Given the description of an element on the screen output the (x, y) to click on. 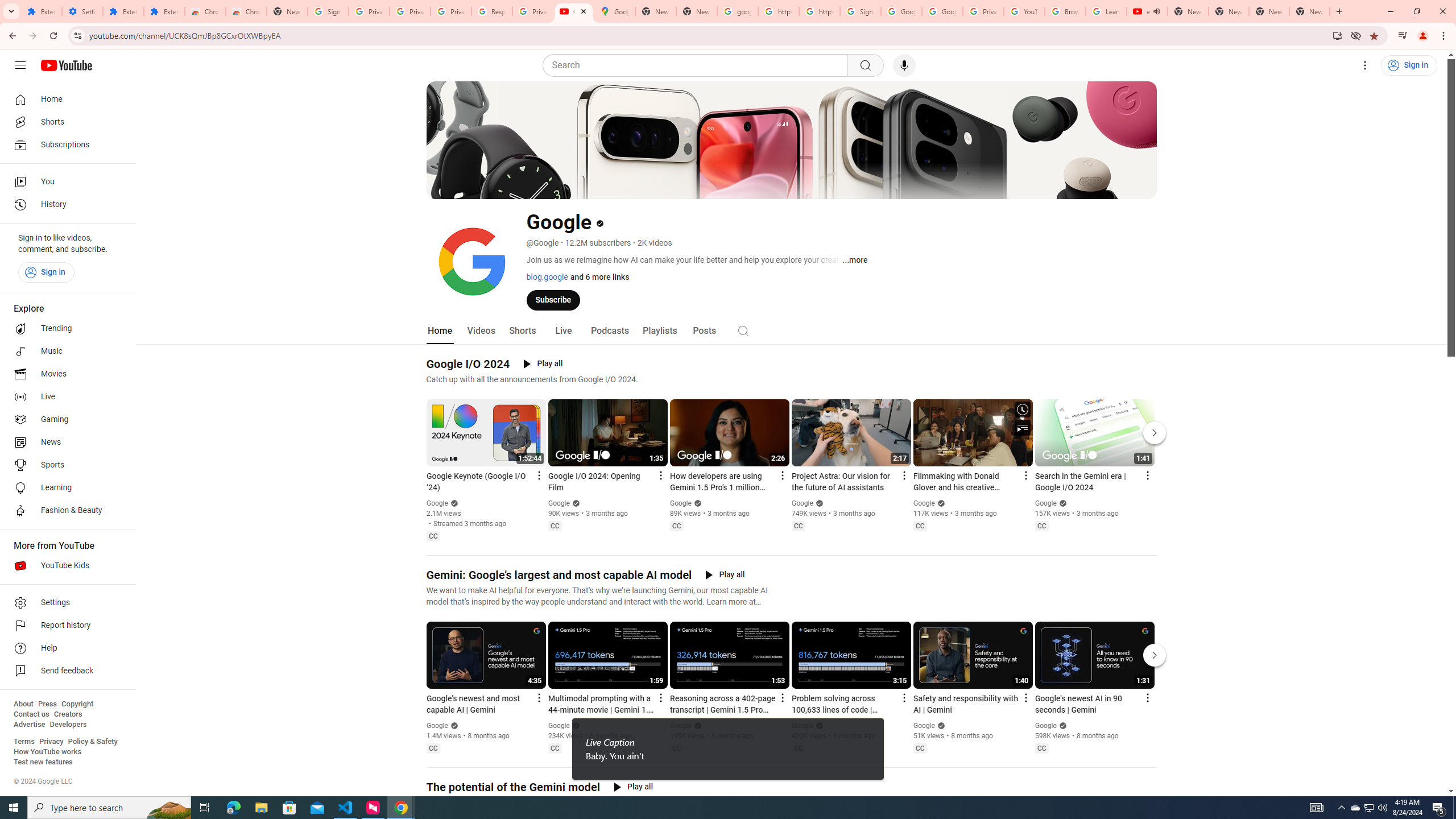
News (64, 441)
Action menu (1146, 697)
Advertise (29, 724)
Learning (64, 487)
Sign in - Google Accounts (327, 11)
Guide (20, 65)
Sign in - Google Accounts (860, 11)
Contact us (31, 714)
Search with your voice (903, 65)
